Given the description of an element on the screen output the (x, y) to click on. 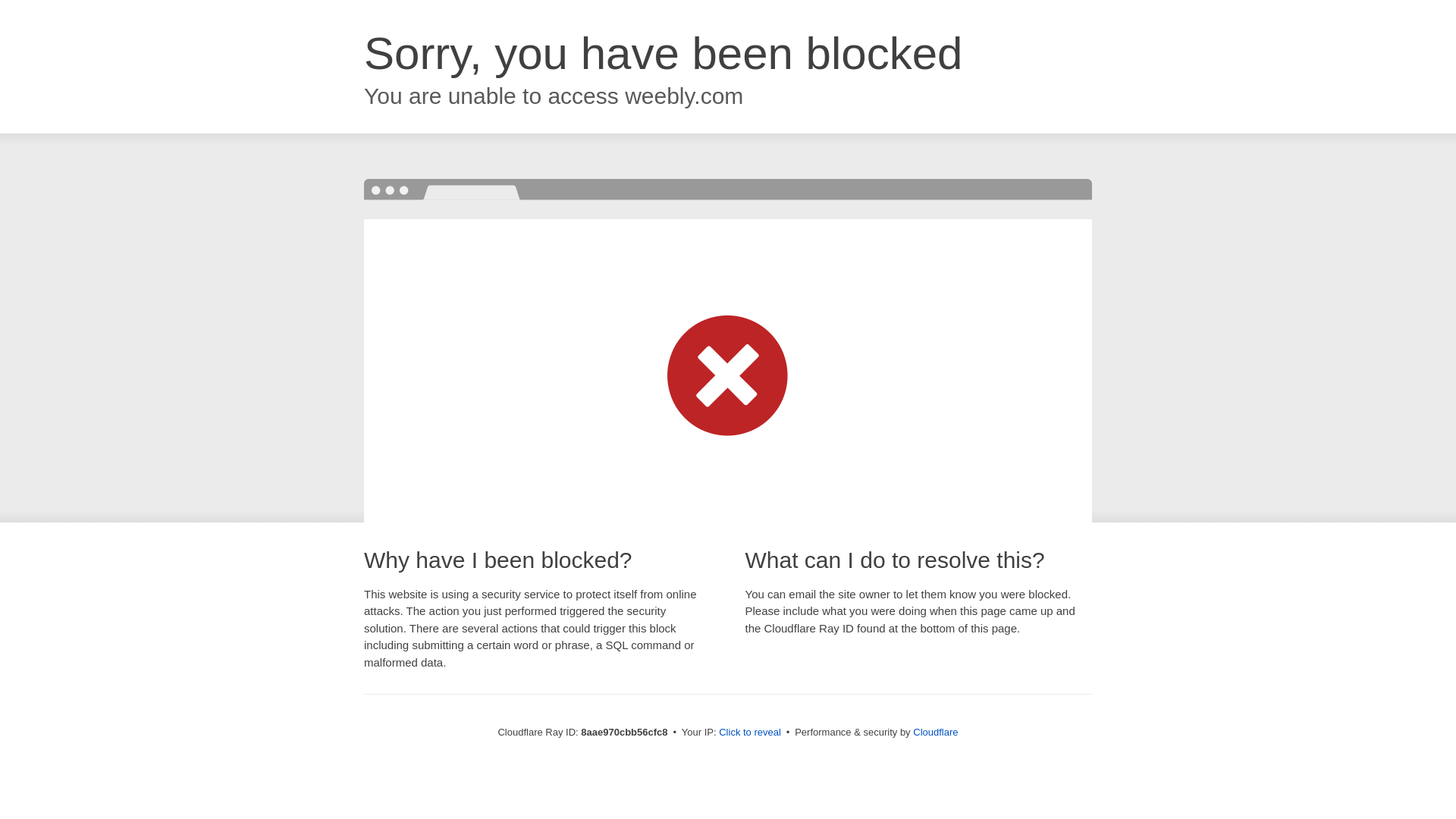
Cloudflare (935, 731)
Click to reveal (749, 732)
